Given the description of an element on the screen output the (x, y) to click on. 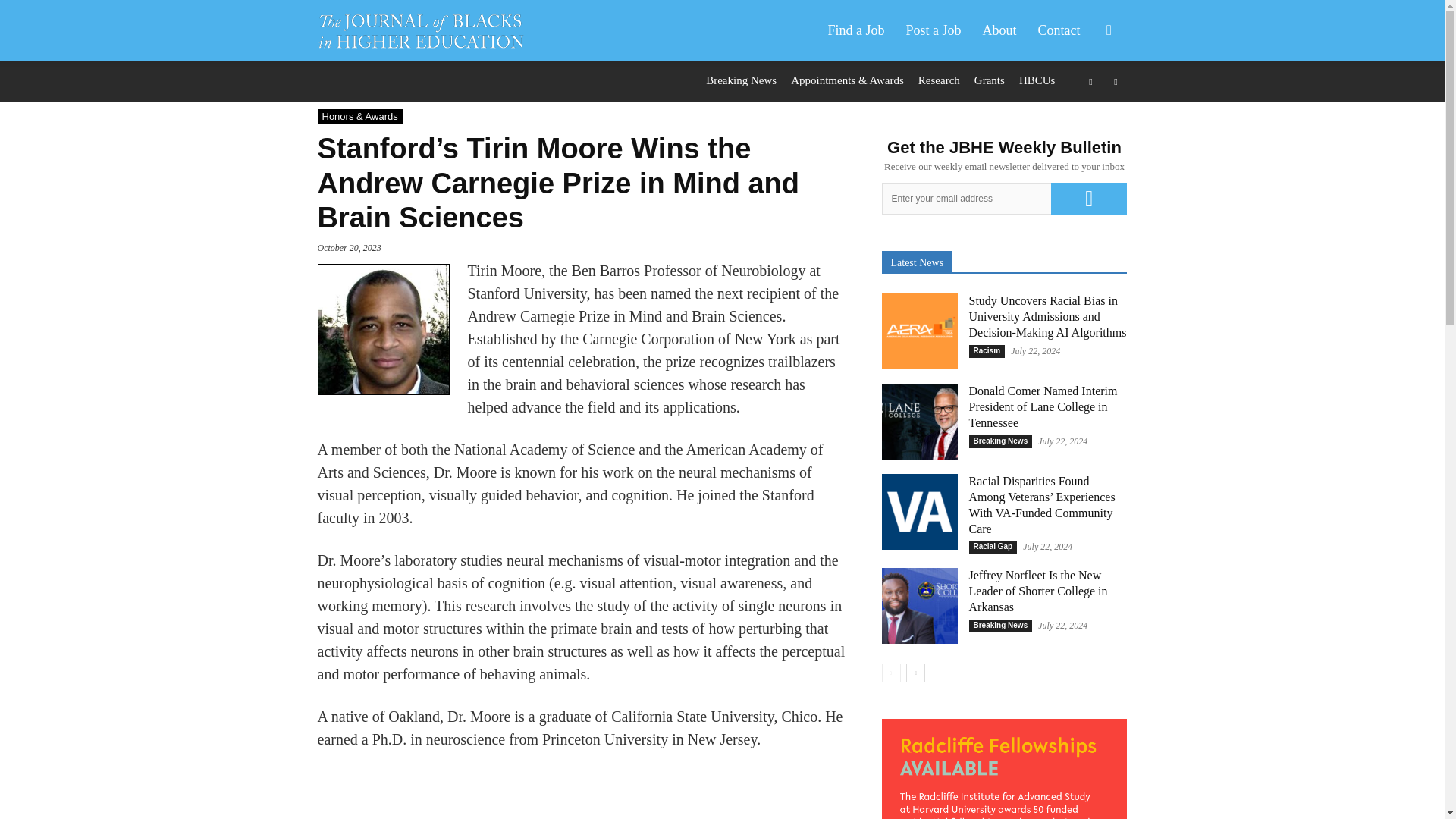
contact (1058, 30)
about (999, 30)
Contact (1058, 30)
Research (938, 80)
Search (1085, 102)
About (999, 30)
Find a Job (855, 30)
The Journal of Blacks in Higher Education (428, 30)
The Journal of Blacks in Higher Education (419, 30)
HBCUs (1037, 80)
Post a Job (933, 30)
Breaking News (741, 80)
Grants (989, 80)
